Given the description of an element on the screen output the (x, y) to click on. 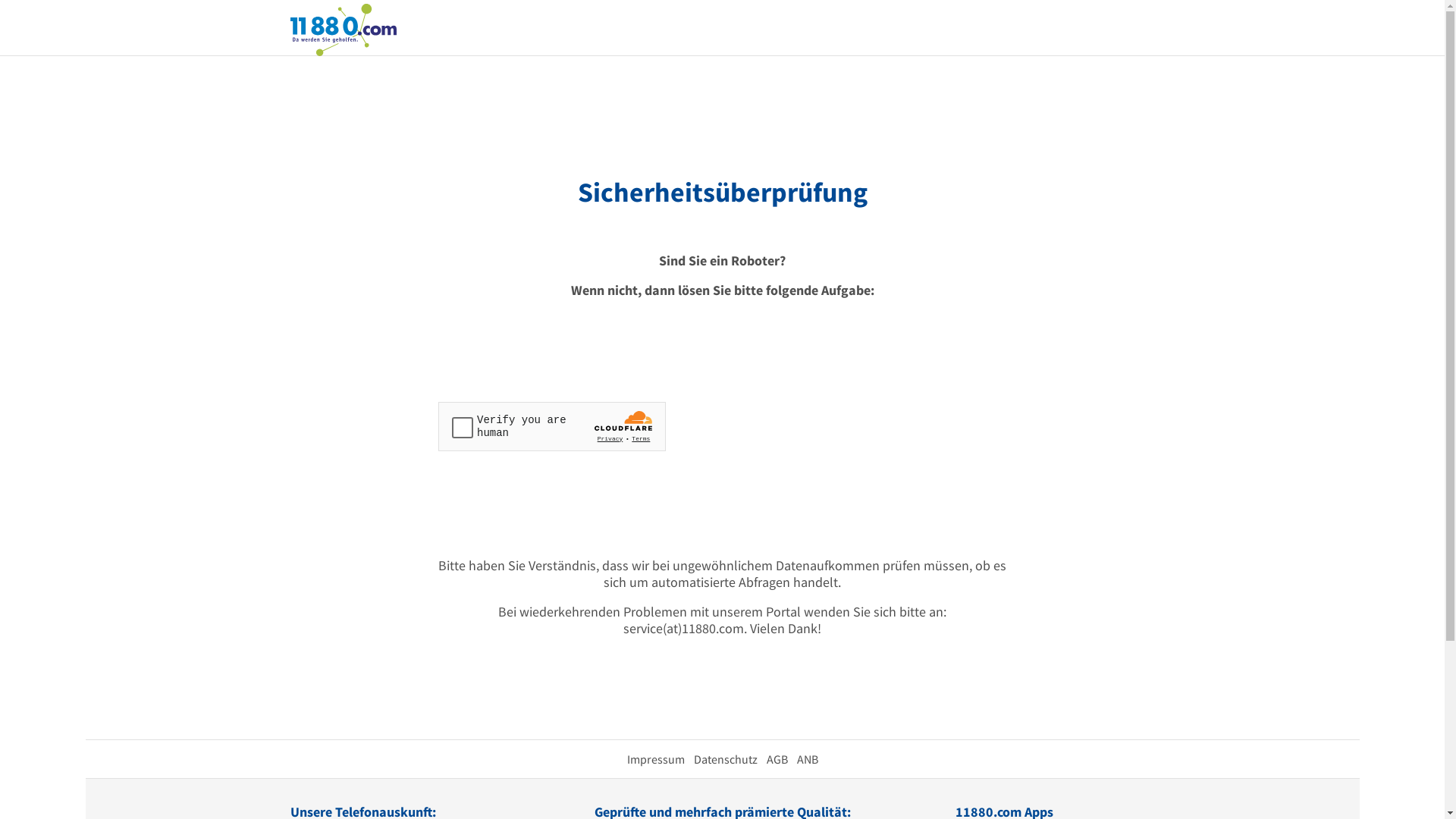
Impressum Element type: text (655, 758)
Datenschutz Element type: text (724, 758)
ANB Element type: text (806, 758)
Widget containing a Cloudflare security challenge Element type: hover (551, 426)
11880.com Element type: hover (342, 28)
AGB Element type: text (776, 758)
